Given the description of an element on the screen output the (x, y) to click on. 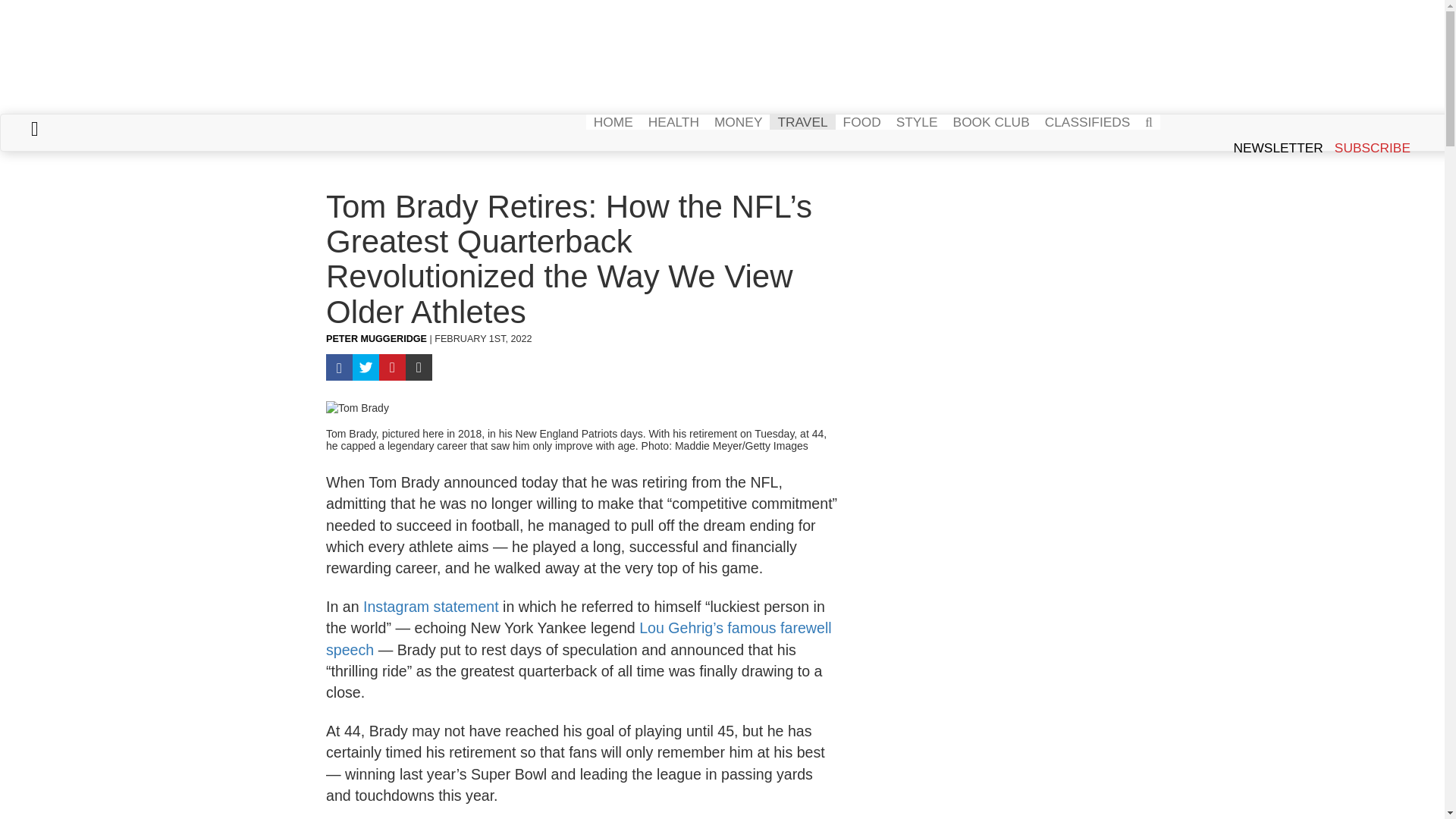
HEALTH (673, 121)
HOME (613, 121)
MONEY (738, 121)
